Given the description of an element on the screen output the (x, y) to click on. 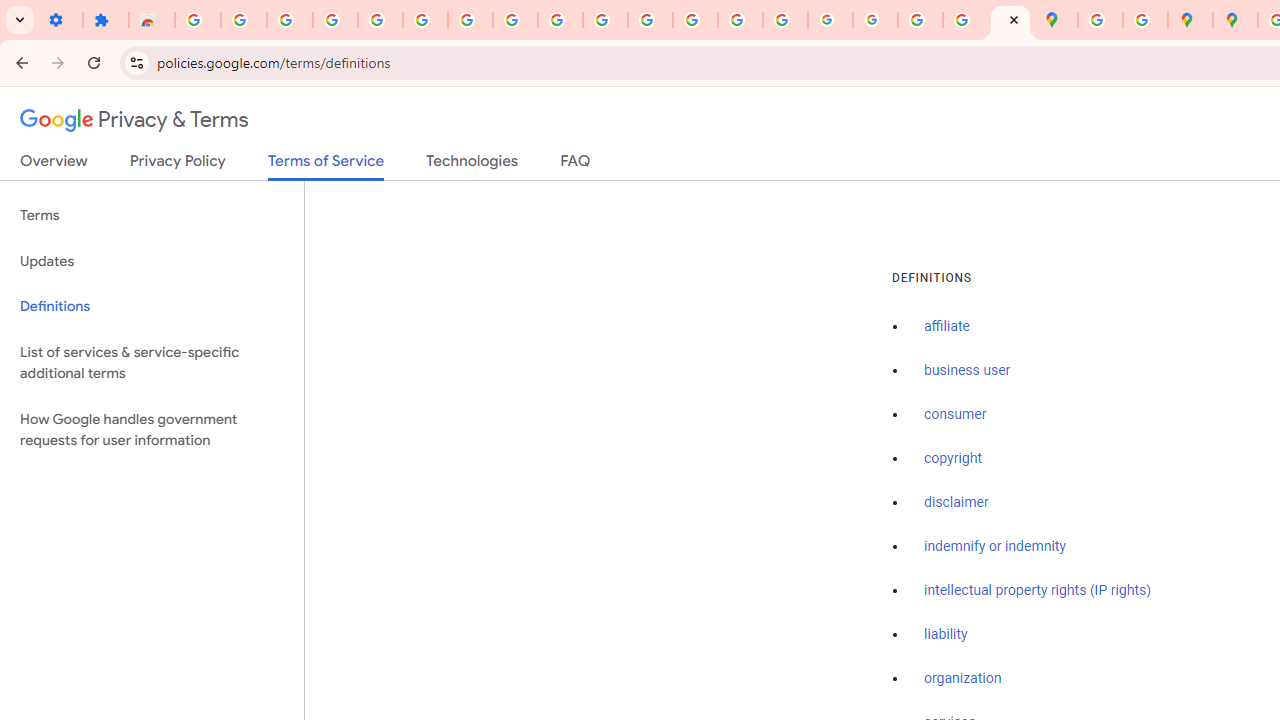
Extensions (106, 20)
Sign in - Google Accounts (198, 20)
List of services & service-specific additional terms (152, 362)
How Google handles government requests for user information (152, 429)
Forward (57, 62)
Privacy & Terms (134, 120)
consumer (955, 415)
Technologies (472, 165)
Learn how to find your photos - Google Photos Help (335, 20)
